Given the description of an element on the screen output the (x, y) to click on. 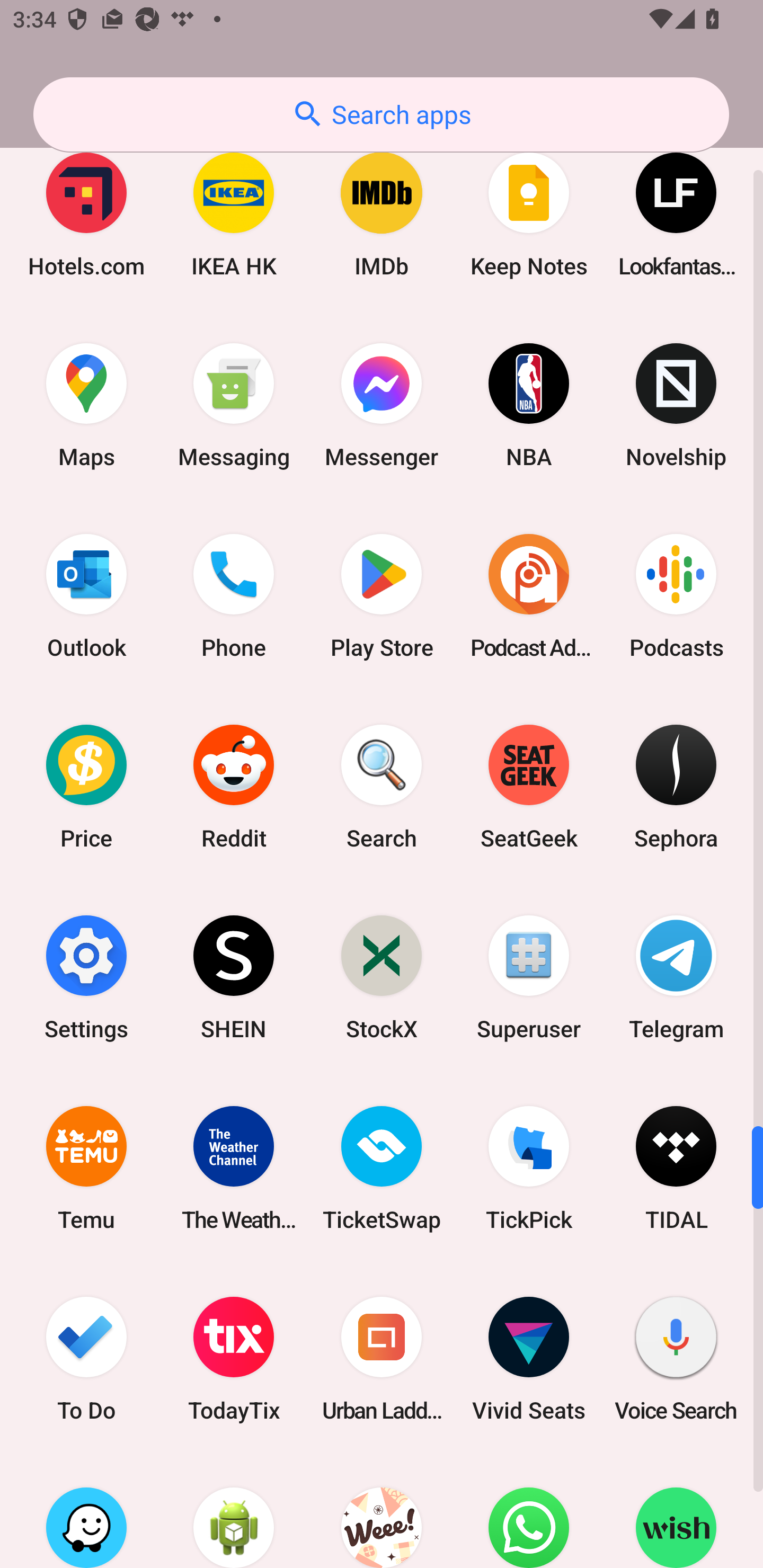
To Do (86, 1358)
